Given the description of an element on the screen output the (x, y) to click on. 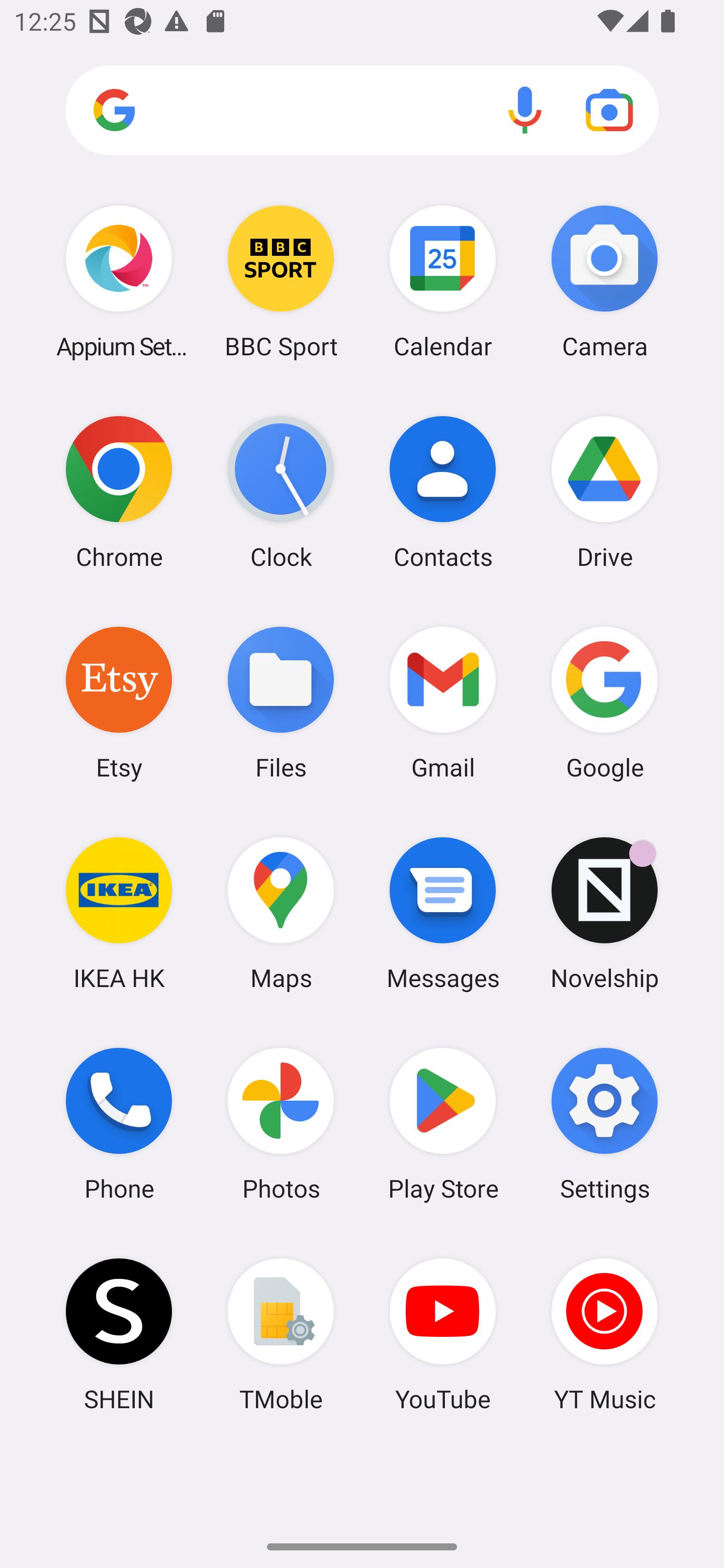
Search apps, web and more (361, 110)
Voice search (524, 109)
Google Lens (608, 109)
Appium Settings (118, 281)
BBC Sport (280, 281)
Calendar (443, 281)
Camera (604, 281)
Chrome (118, 492)
Clock (280, 492)
Contacts (443, 492)
Drive (604, 492)
Etsy (118, 702)
Files (280, 702)
Gmail (443, 702)
Google (604, 702)
IKEA HK (118, 913)
Maps (280, 913)
Messages (443, 913)
Novelship Novelship has 7 notifications (604, 913)
Phone (118, 1124)
Photos (280, 1124)
Play Store (443, 1124)
Settings (604, 1124)
SHEIN (118, 1334)
TMoble (280, 1334)
YouTube (443, 1334)
YT Music (604, 1334)
